Given the description of an element on the screen output the (x, y) to click on. 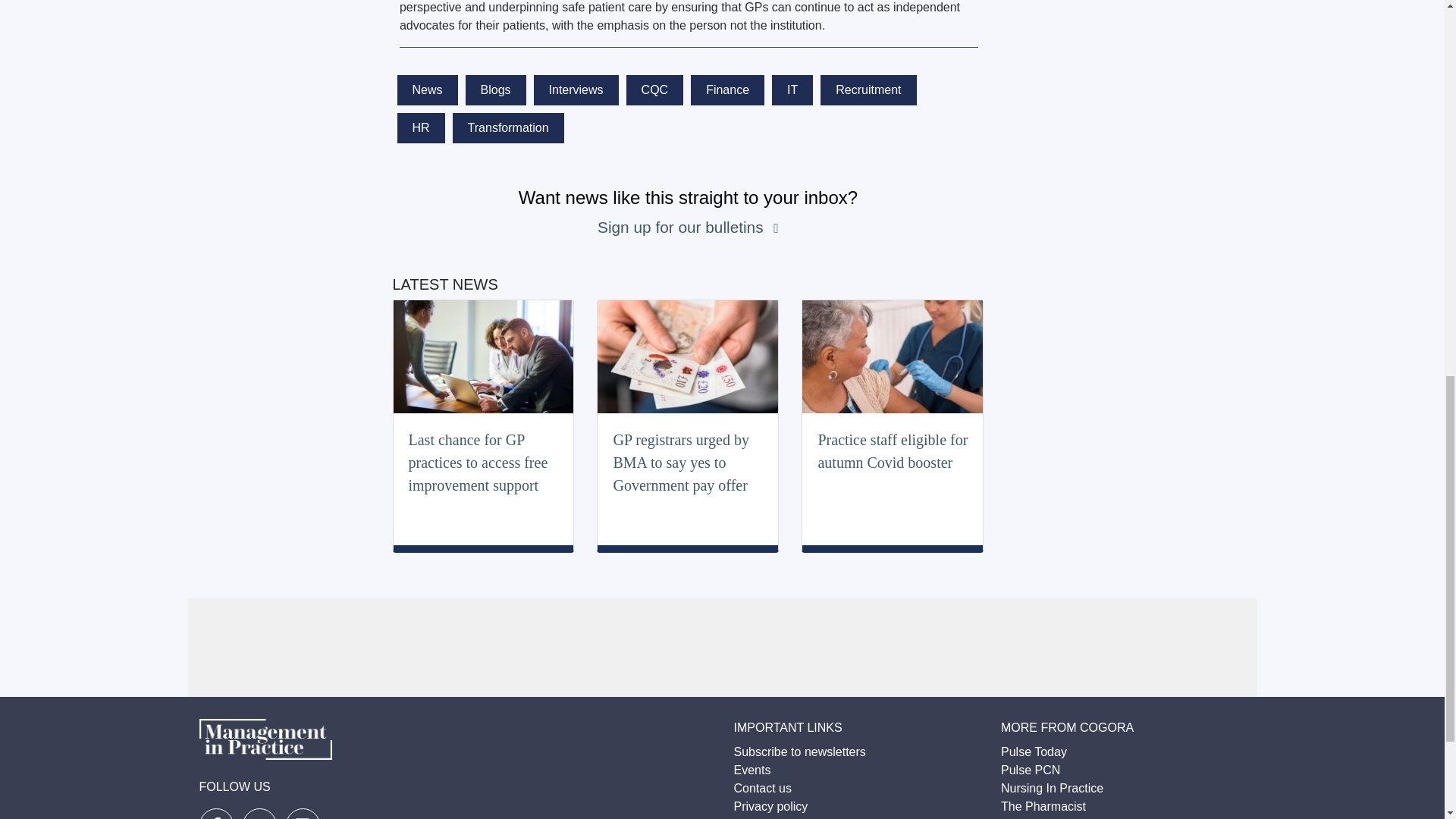
Events (752, 769)
Contact us (762, 788)
Sign up for our bulletins (681, 226)
Subscribe to newsletters (799, 751)
The Pharmacist (1043, 806)
Pulse PCN (1030, 769)
Pulse Today (1034, 751)
Nursing In Practice (1052, 788)
